Given the description of an element on the screen output the (x, y) to click on. 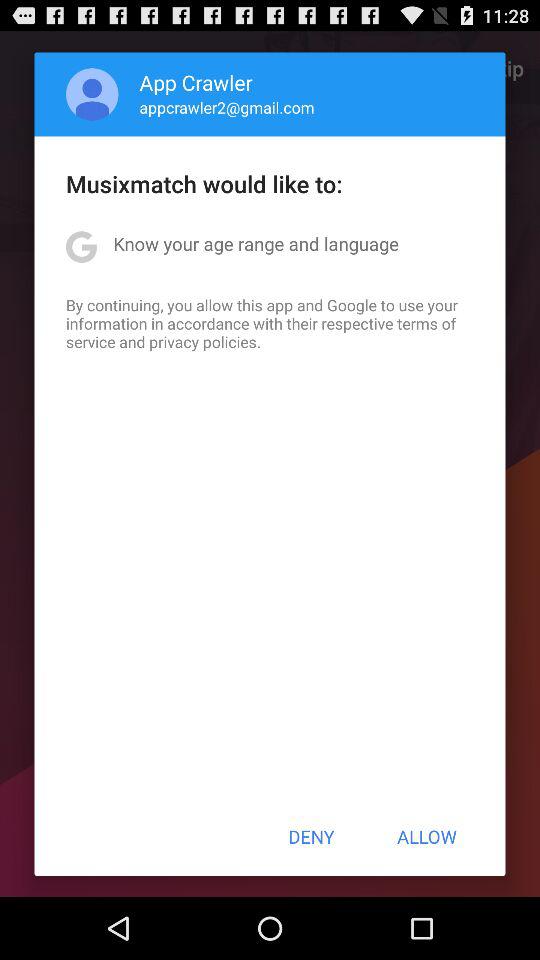
tap icon next to app crawler app (92, 94)
